Given the description of an element on the screen output the (x, y) to click on. 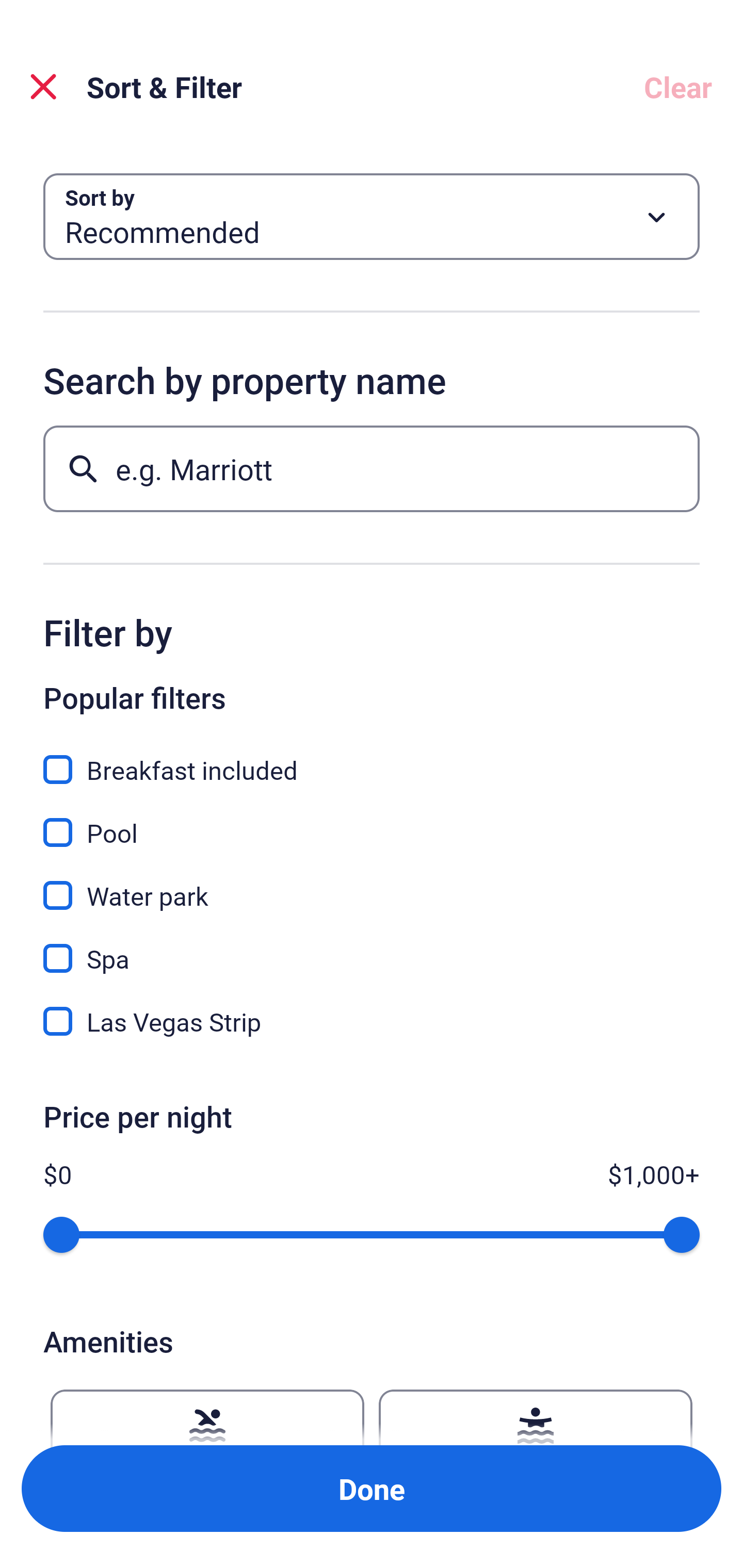
Close Sort and Filter (43, 86)
Clear (677, 86)
Sort by Button Recommended (371, 217)
e.g. Marriott Button (371, 468)
Breakfast included, Breakfast included (371, 757)
Pool, Pool (371, 821)
Water park, Water park (371, 883)
Spa, Spa (371, 946)
Las Vegas Strip, Las Vegas Strip (371, 1021)
Apply and close Sort and Filter Done (371, 1488)
